Given the description of an element on the screen output the (x, y) to click on. 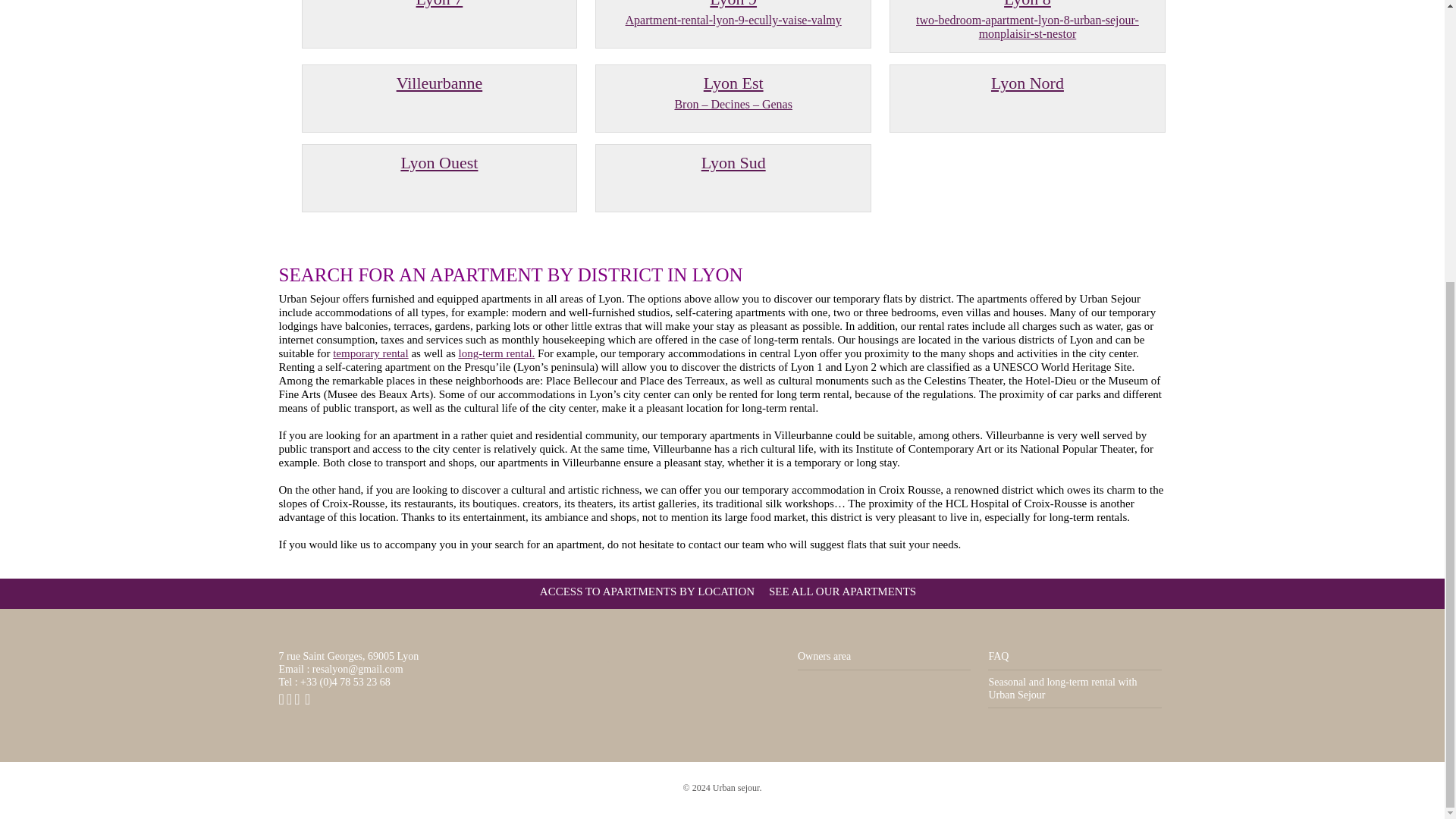
Villeurbanne (440, 83)
Lyon Sud (733, 162)
Lyon 7 (440, 2)
Lyon Ouest (440, 162)
temporary rental (733, 13)
Lyon Nord (371, 353)
